Given the description of an element on the screen output the (x, y) to click on. 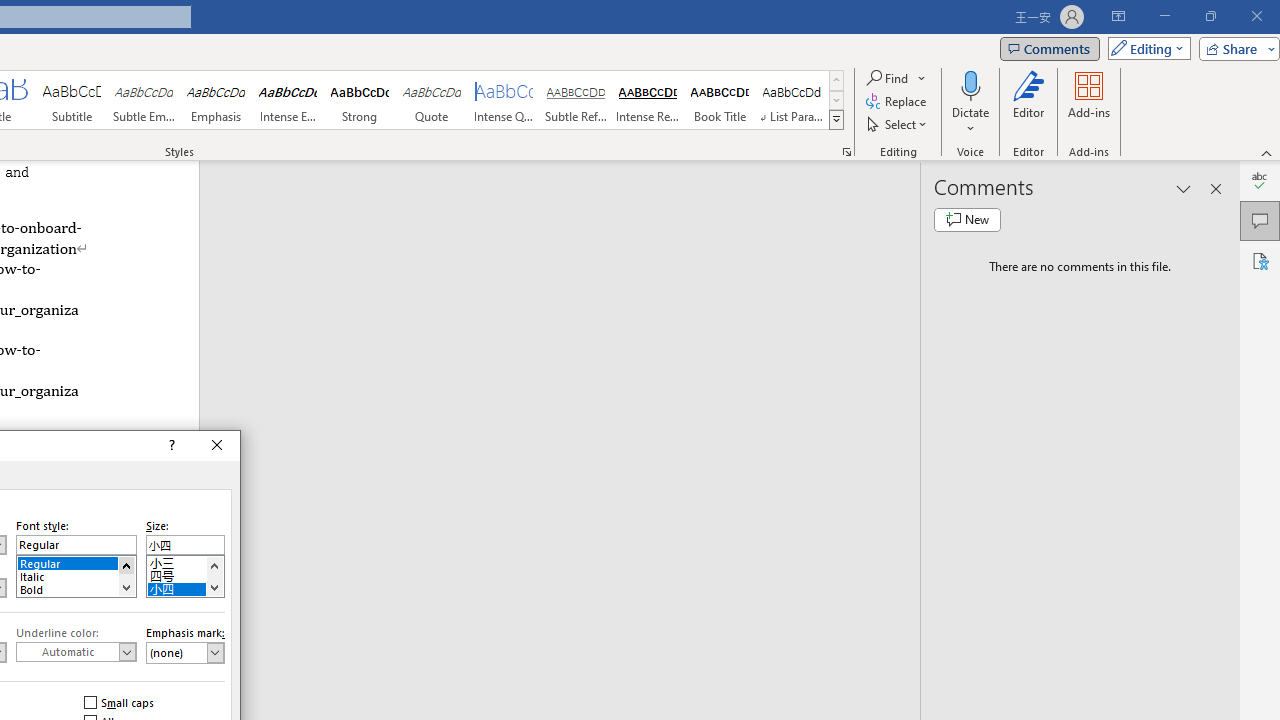
Subtle Reference (575, 100)
Replace... (897, 101)
Styles (836, 120)
Line up (214, 565)
Line down (214, 587)
Font style: (75, 544)
Select (898, 124)
Underline Color (Automatic) (75, 651)
Strong (359, 100)
